Given the description of an element on the screen output the (x, y) to click on. 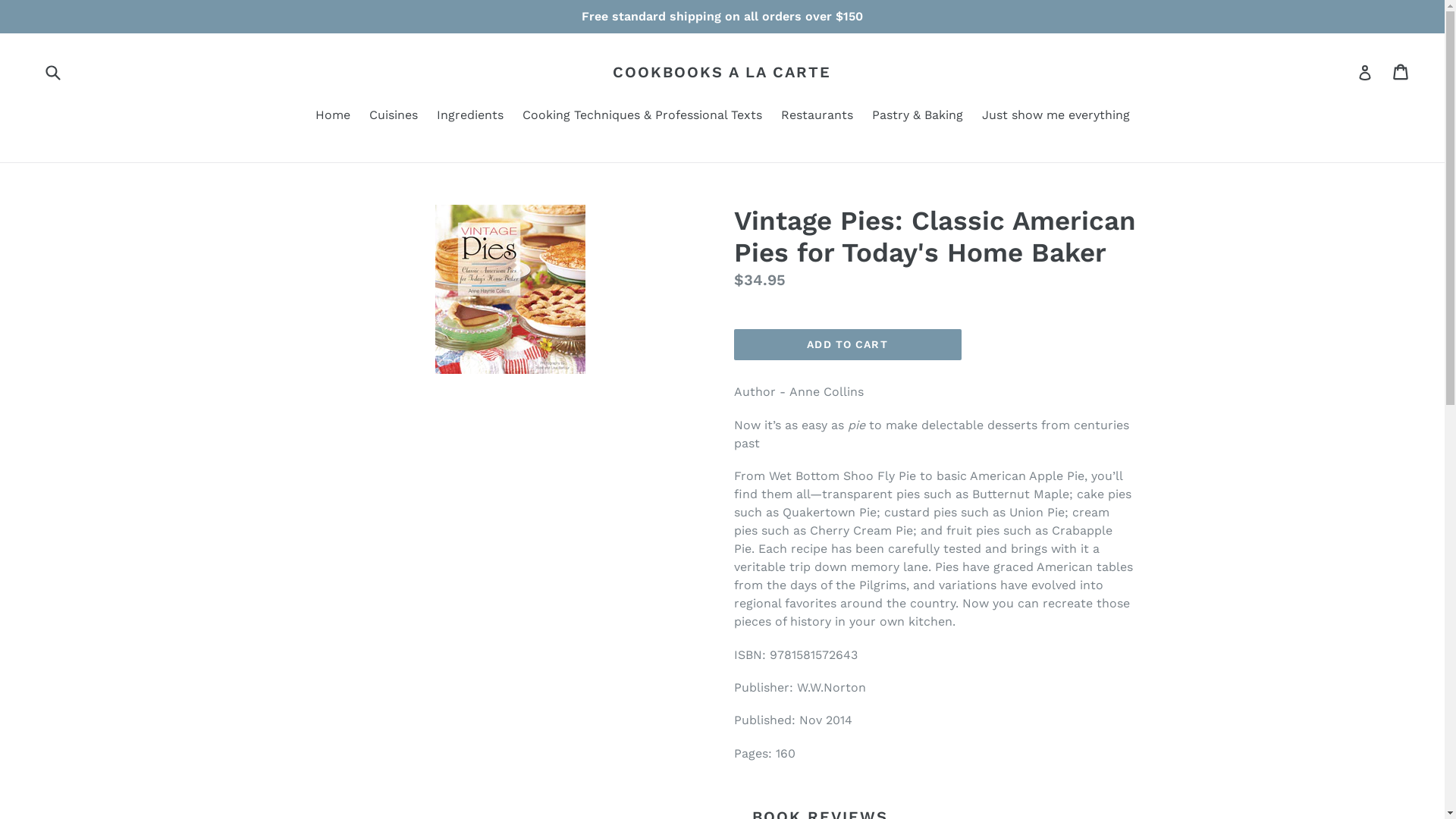
Restaurants Element type: text (816, 116)
Cooking Techniques & Professional Texts Element type: text (641, 116)
Submit Element type: text (51, 71)
Just show me everything Element type: text (1054, 116)
Ingredients Element type: text (470, 116)
Cuisines Element type: text (392, 116)
Log in Element type: text (1364, 71)
Home Element type: text (332, 116)
Cart
Cart Element type: text (1401, 71)
COOKBOOKS A LA CARTE Element type: text (721, 71)
Pastry & Baking Element type: text (917, 116)
ADD TO CART Element type: text (847, 344)
